Given the description of an element on the screen output the (x, y) to click on. 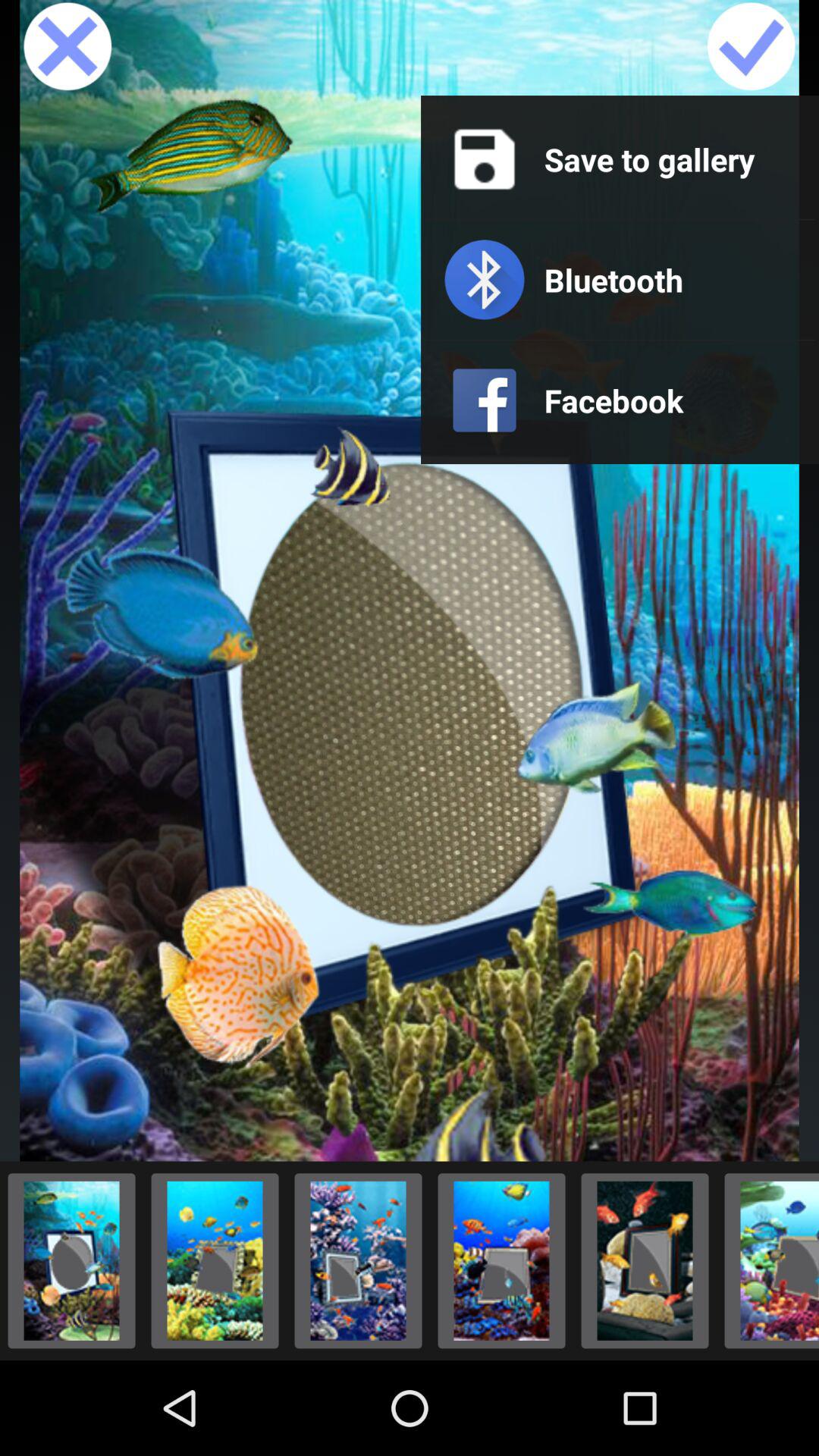
select image (751, 47)
